Given the description of an element on the screen output the (x, y) to click on. 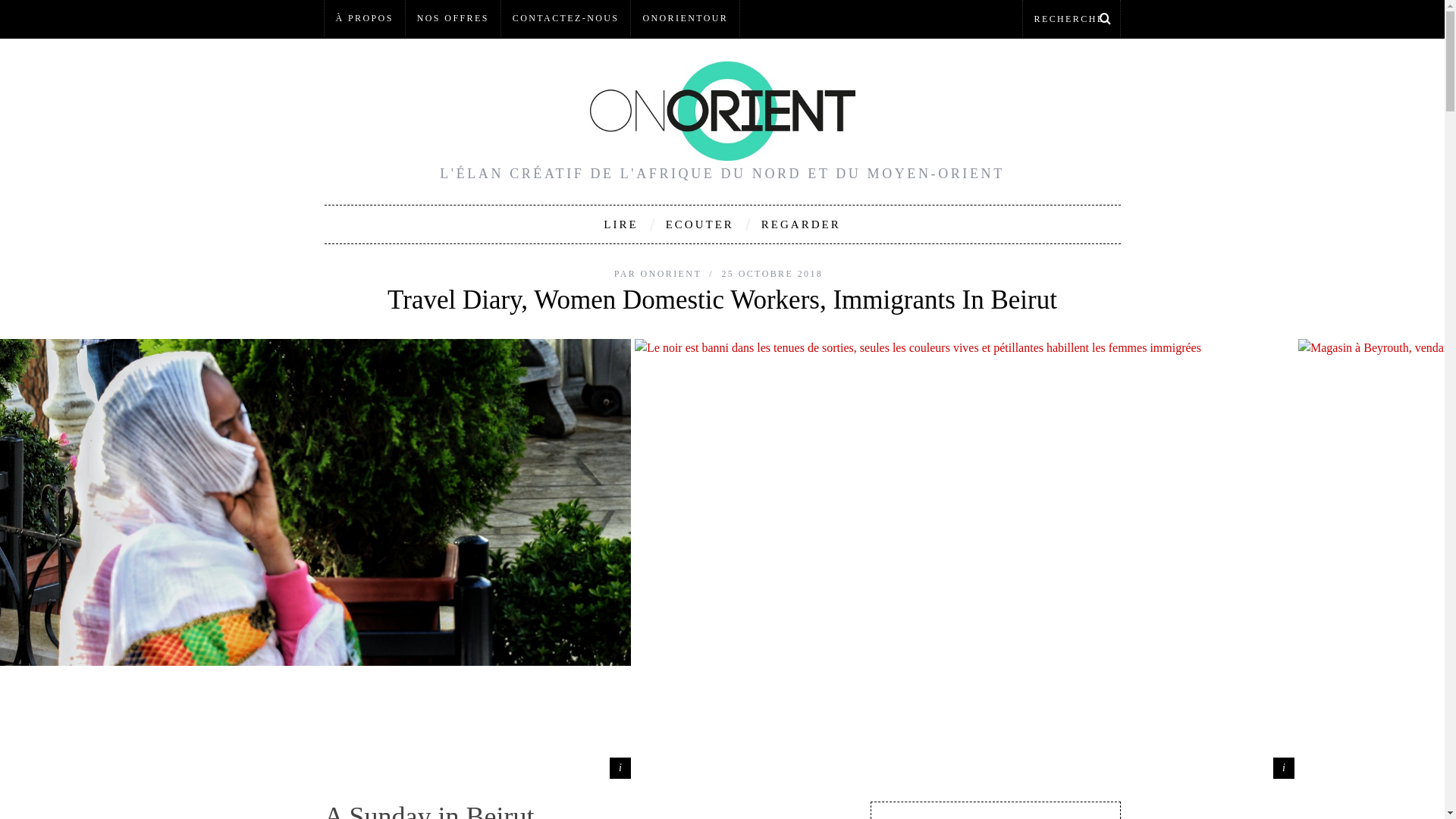
Recherche (1071, 18)
LIRE (620, 224)
CONTACTEZ-NOUS (565, 18)
ONORIENTOUR (684, 18)
REGARDER (800, 224)
NOS OFFRES (453, 18)
ECOUTER (699, 224)
